Given the description of an element on the screen output the (x, y) to click on. 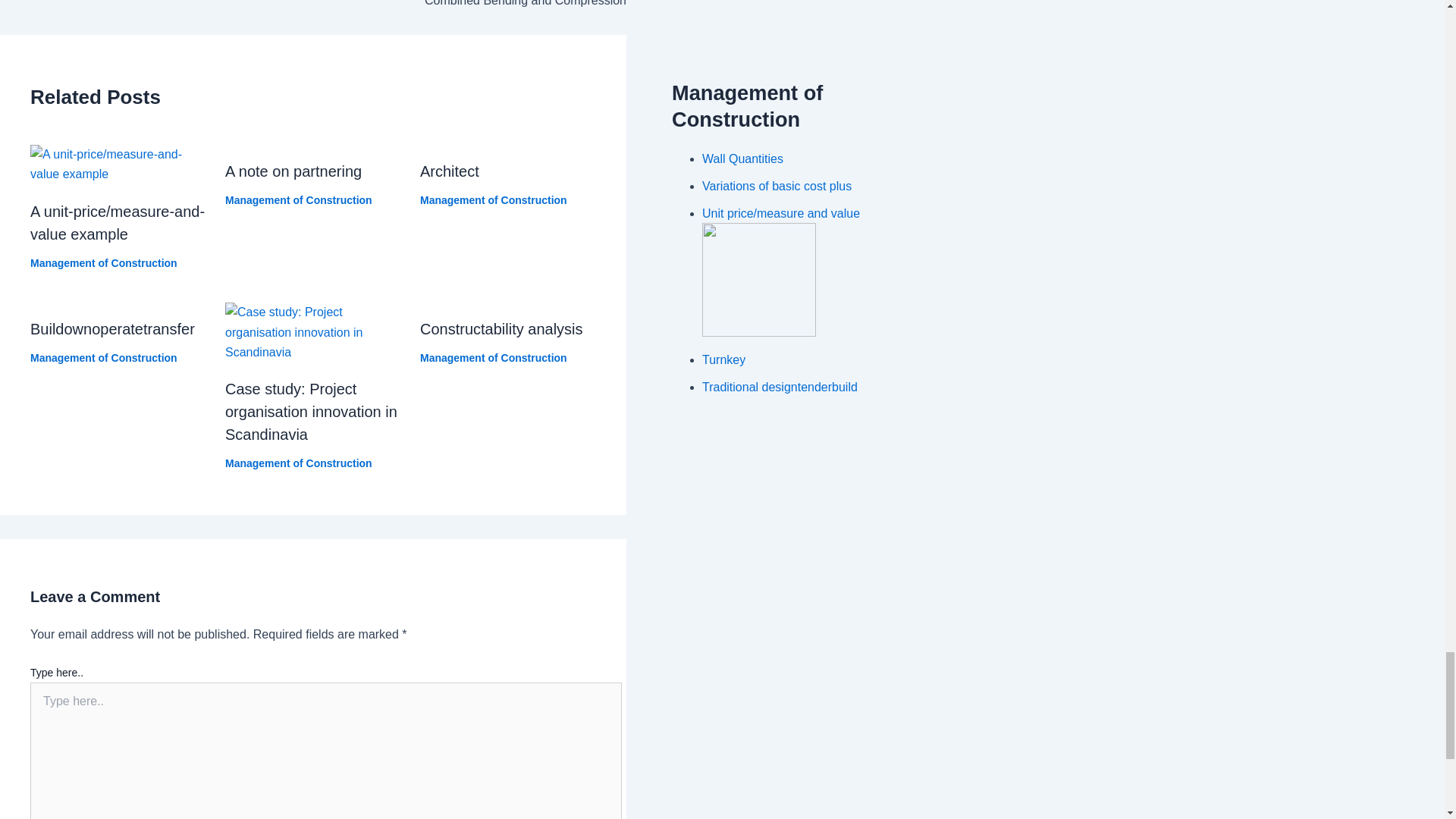
Combined Bending and Compression (313, 5)
Variations of basic cost plus (776, 185)
Traditional designtenderbuild (779, 386)
Wall Quantities (742, 158)
Turnkey (723, 359)
